Given the description of an element on the screen output the (x, y) to click on. 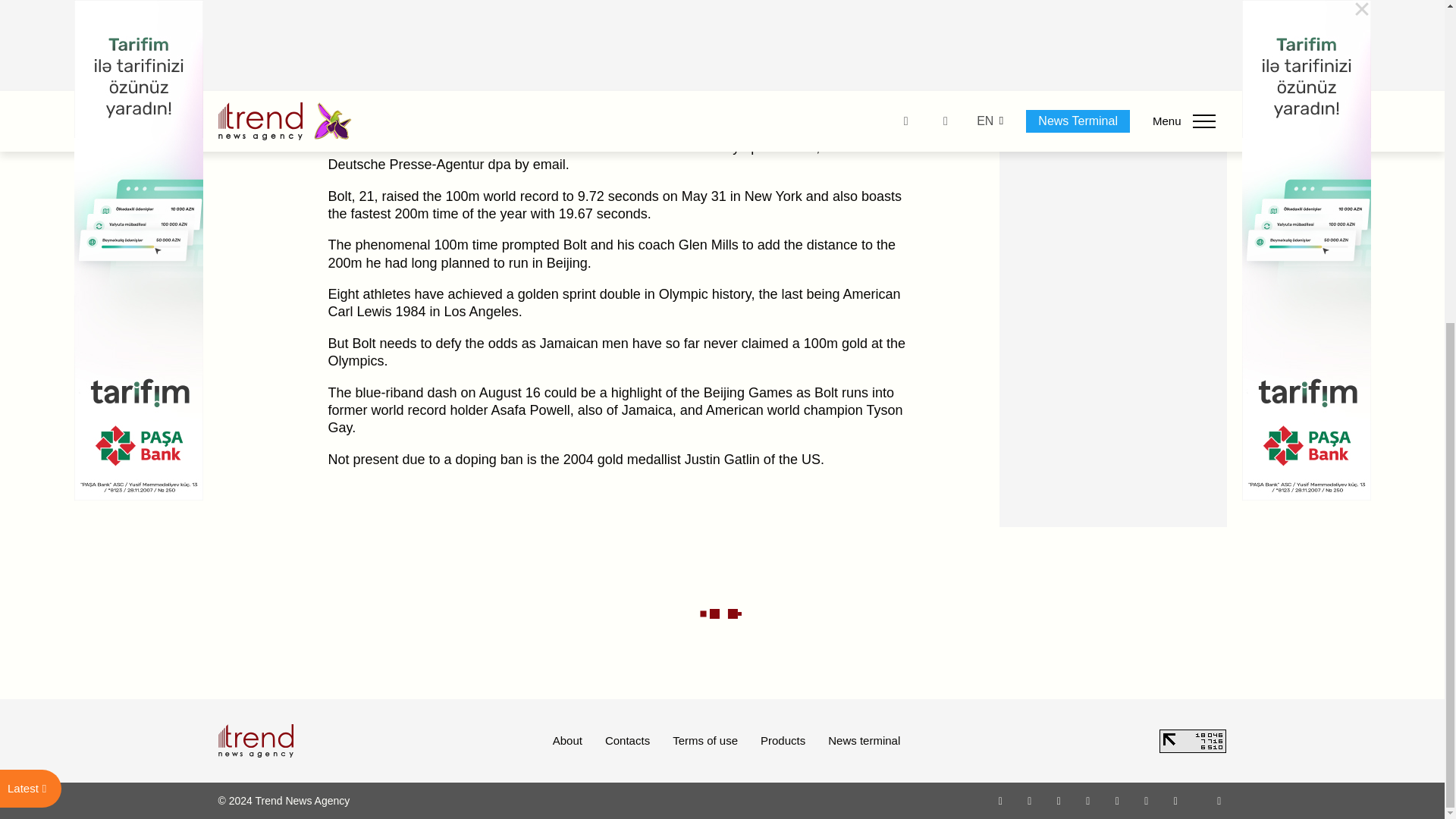
Android App (1176, 800)
LinkedIn (1146, 800)
Youtube (1088, 800)
Whatsapp (1000, 800)
Facebook (1029, 800)
3rd party ad content (1112, 51)
RSS Feed (1219, 800)
Telegram (1117, 800)
Twitter (1059, 800)
